Given the description of an element on the screen output the (x, y) to click on. 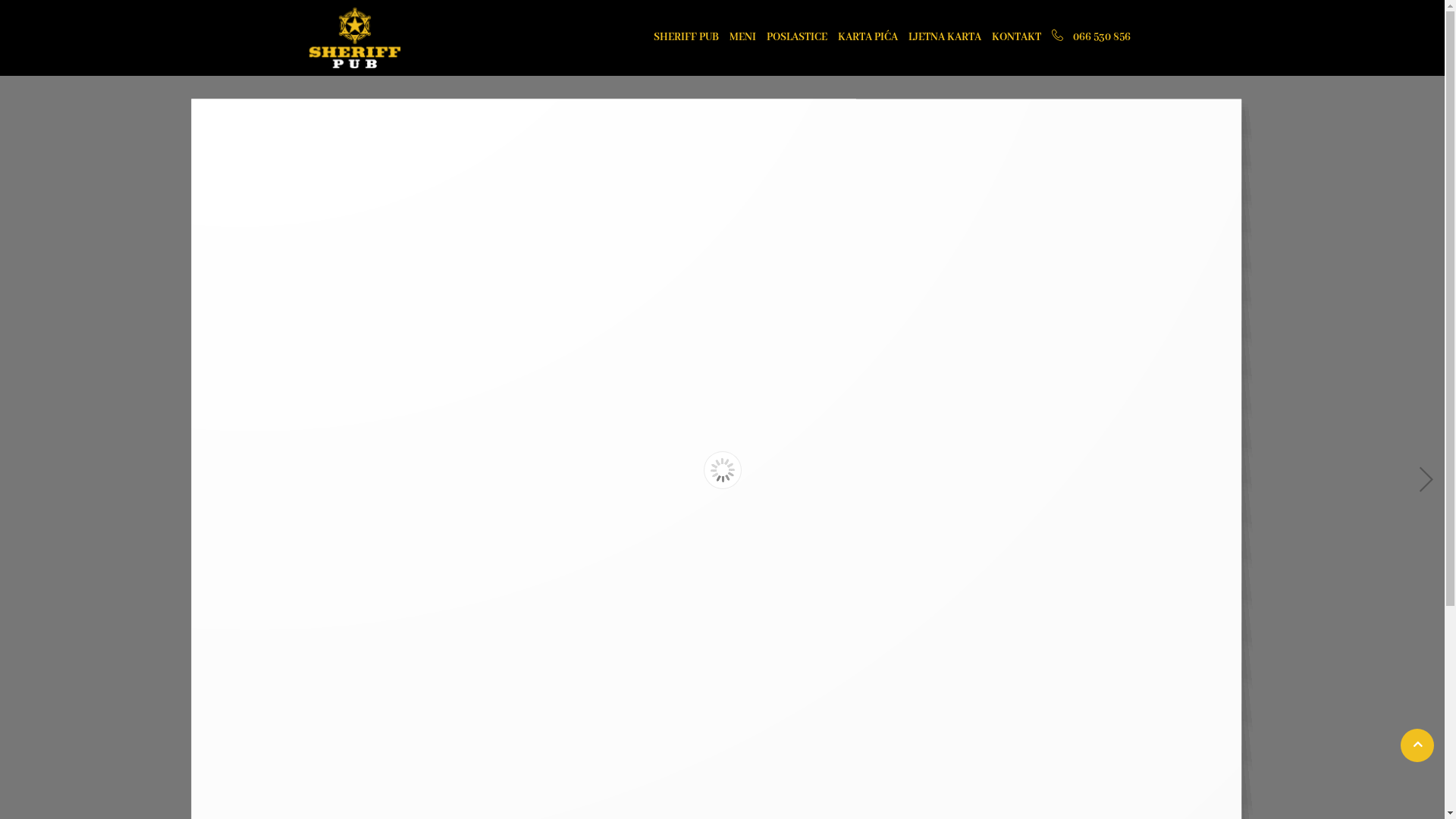
LJETNA KARTA Element type: text (944, 37)
SHERIFF PUB Element type: text (685, 37)
POSLASTICE Element type: text (795, 37)
KONTAKT Element type: text (1016, 37)
Next Page Element type: hover (1423, 480)
066 530 856 Element type: text (1090, 37)
MENI Element type: text (742, 37)
